Given the description of an element on the screen output the (x, y) to click on. 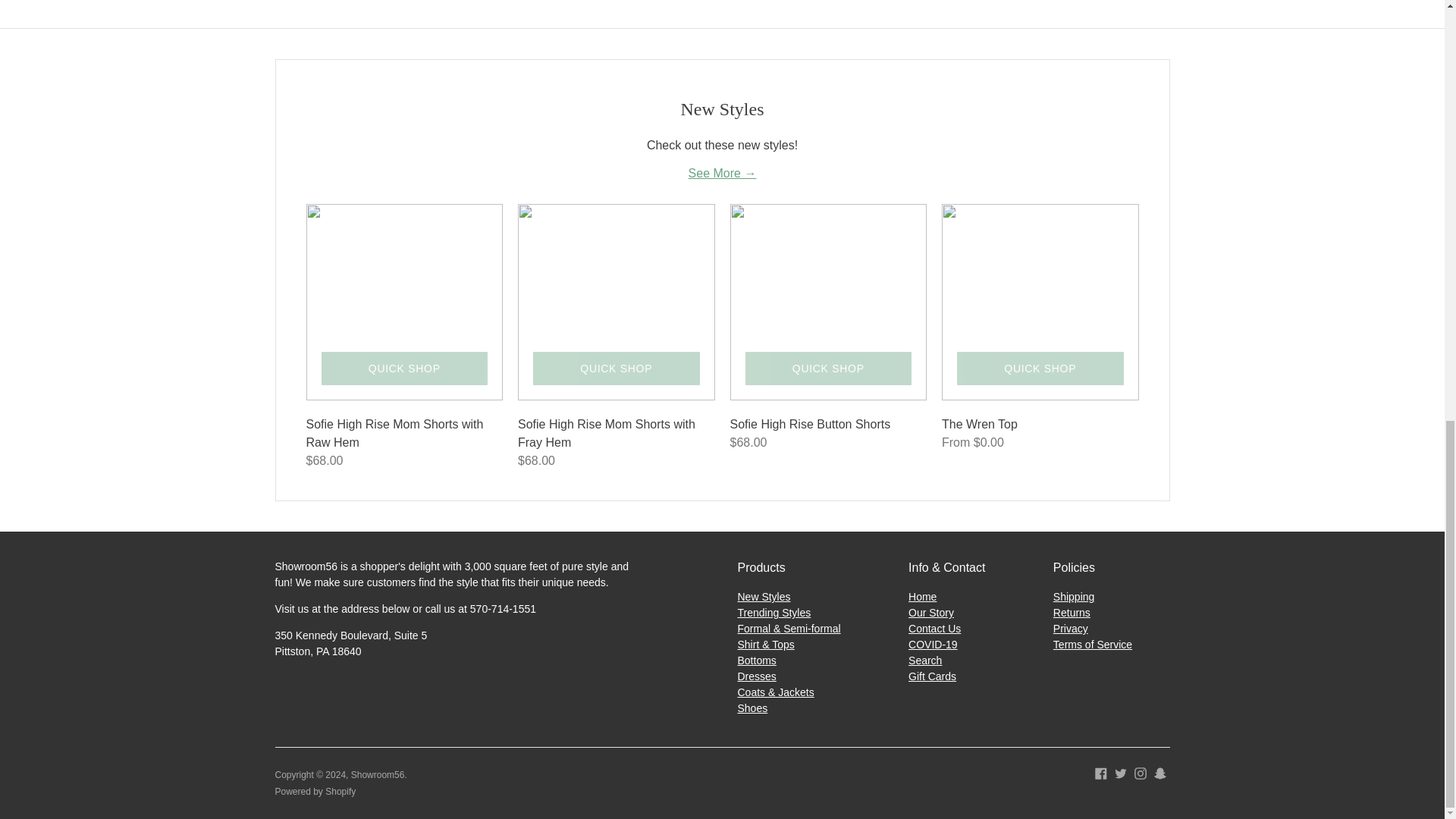
Showroom56 on Twitter (1120, 771)
Showroom56 on Snapchat (1160, 771)
Showroom56 on Instagram (1140, 771)
Showroom56 on Facebook (1100, 771)
